Given the description of an element on the screen output the (x, y) to click on. 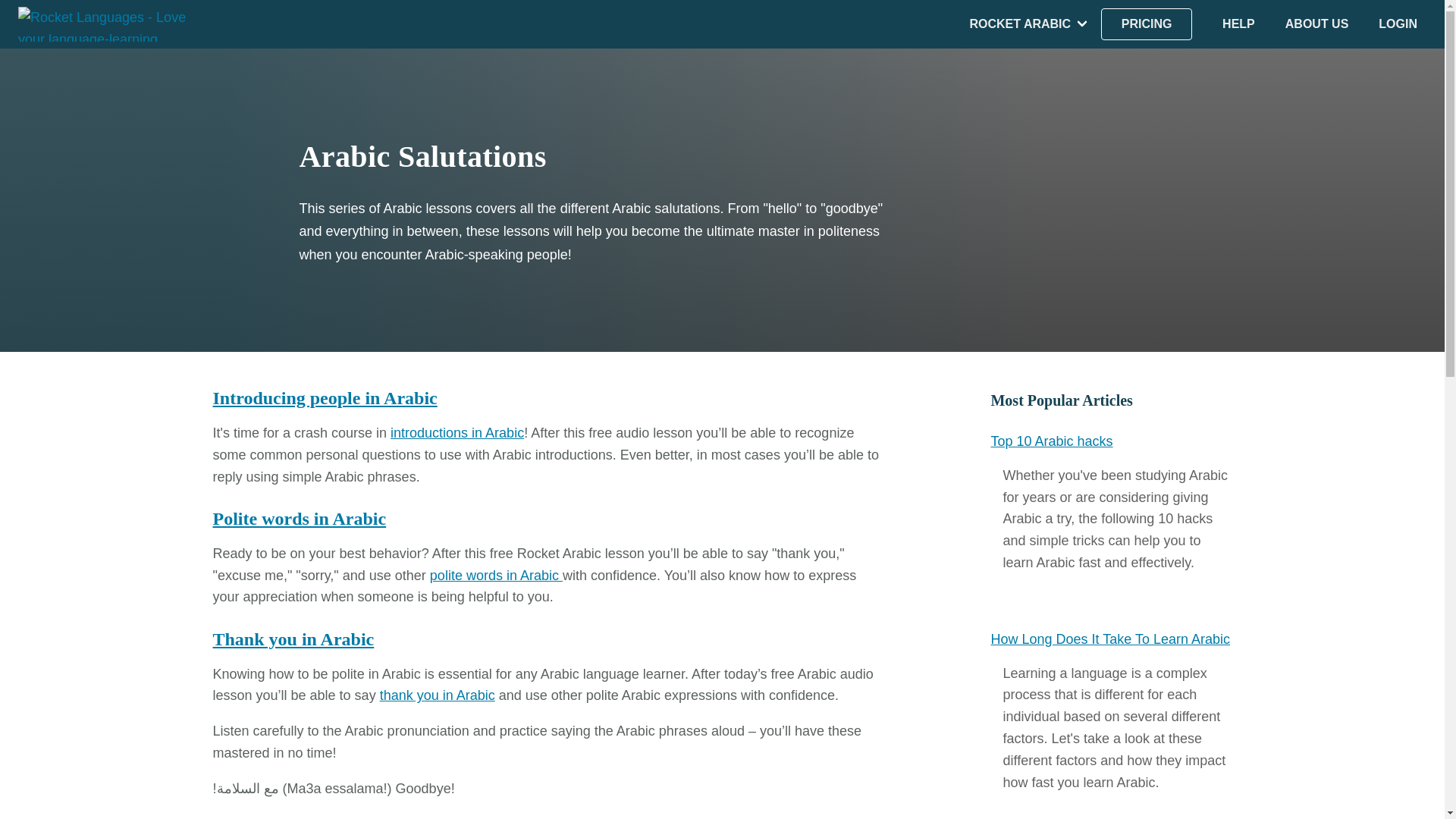
polite words in Arabic (495, 575)
HELP (1239, 24)
Thank you in Arabic (293, 639)
introductions in Arabic (457, 432)
thank you in Arabic (437, 694)
ABOUT US (1317, 24)
ROCKET ARABIC (1019, 24)
PRICING (1146, 24)
Rocket Languages - Love your language-learning journey (106, 23)
LOGIN (1397, 24)
Introducing people in Arabic (324, 397)
Polite words in Arabic (298, 518)
